Given the description of an element on the screen output the (x, y) to click on. 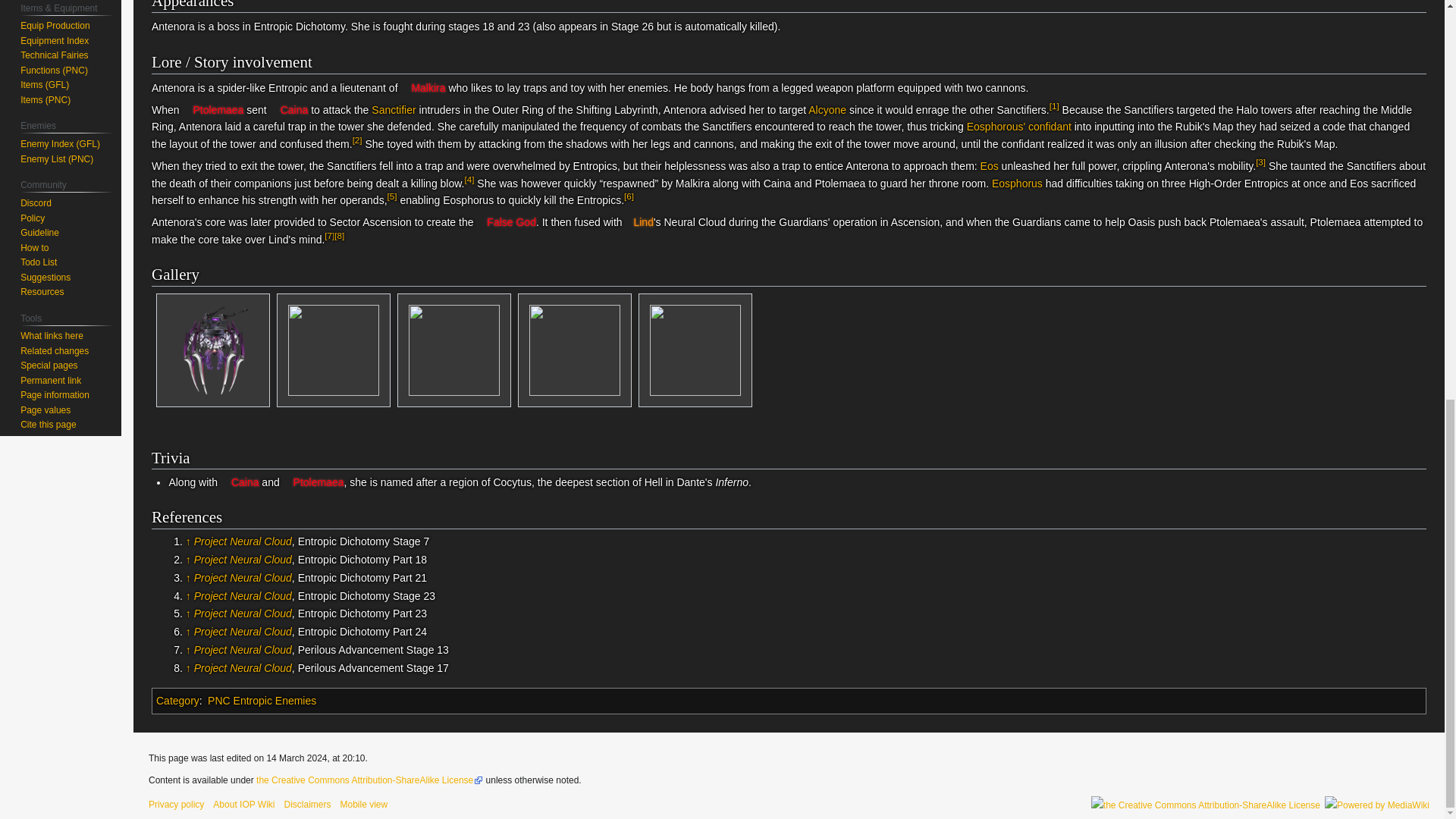
False God (505, 222)
Alcyone (826, 110)
Malkira (422, 87)
Eosphorous' confidant (1018, 126)
Alcyone (826, 110)
Lind (638, 222)
Eosphorus (1016, 183)
Malkira (422, 87)
Ptolemaea (212, 110)
False God (505, 222)
